Given the description of an element on the screen output the (x, y) to click on. 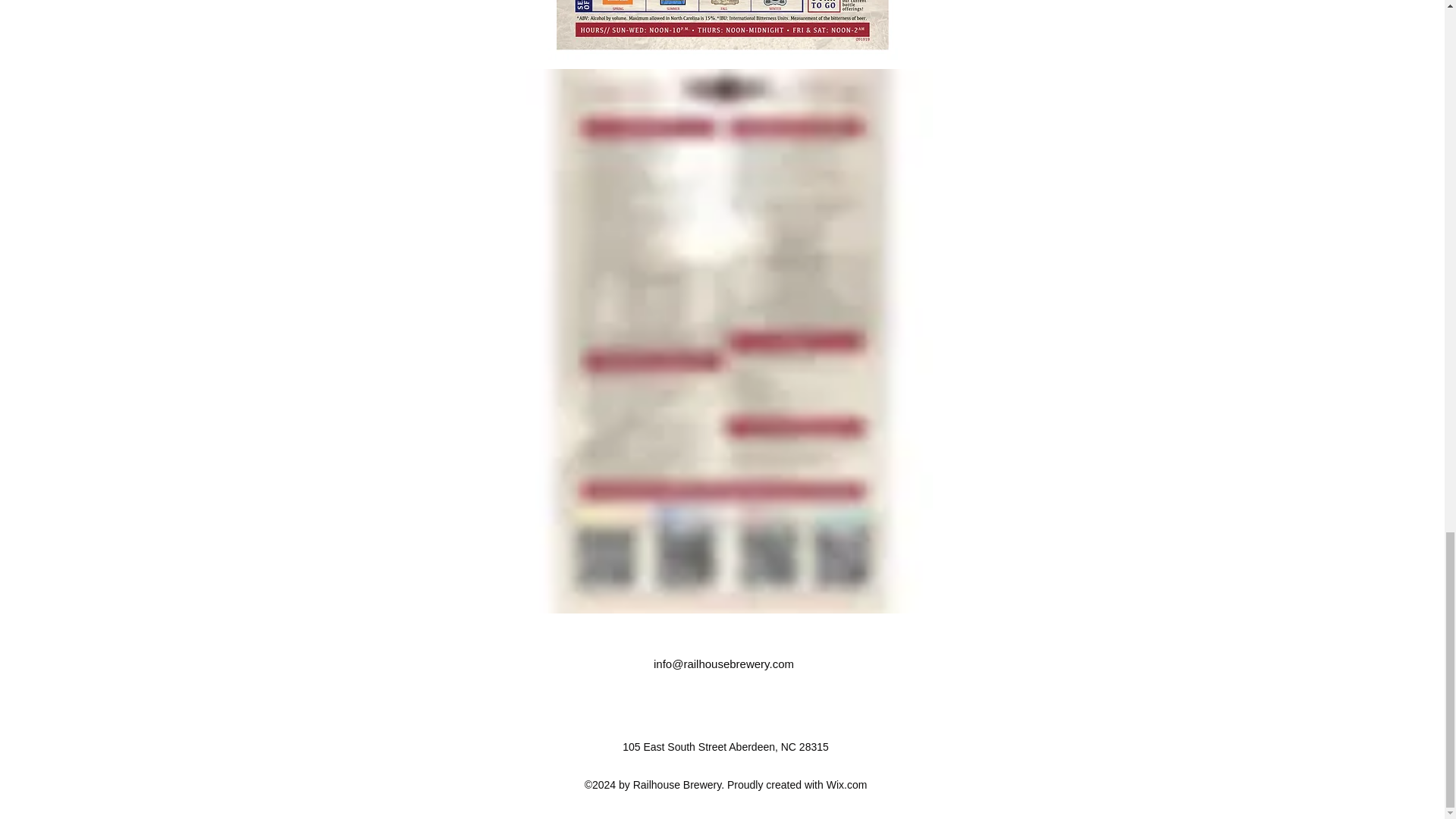
RHB SEP19 Beer Menu.jpeg (722, 42)
